Given the description of an element on the screen output the (x, y) to click on. 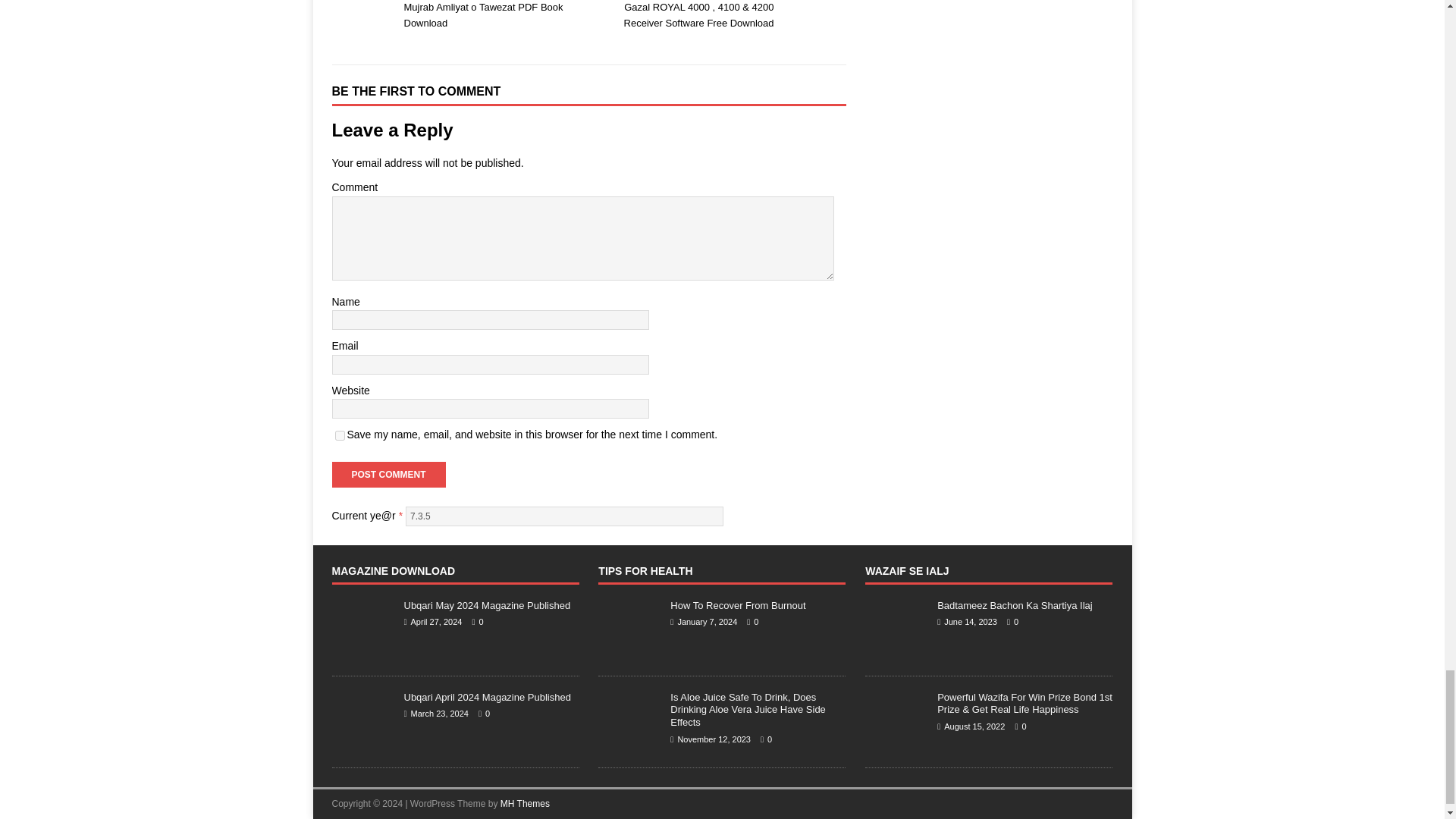
Post Comment (388, 474)
yes (339, 435)
7.3.5 (564, 516)
